Given the description of an element on the screen output the (x, y) to click on. 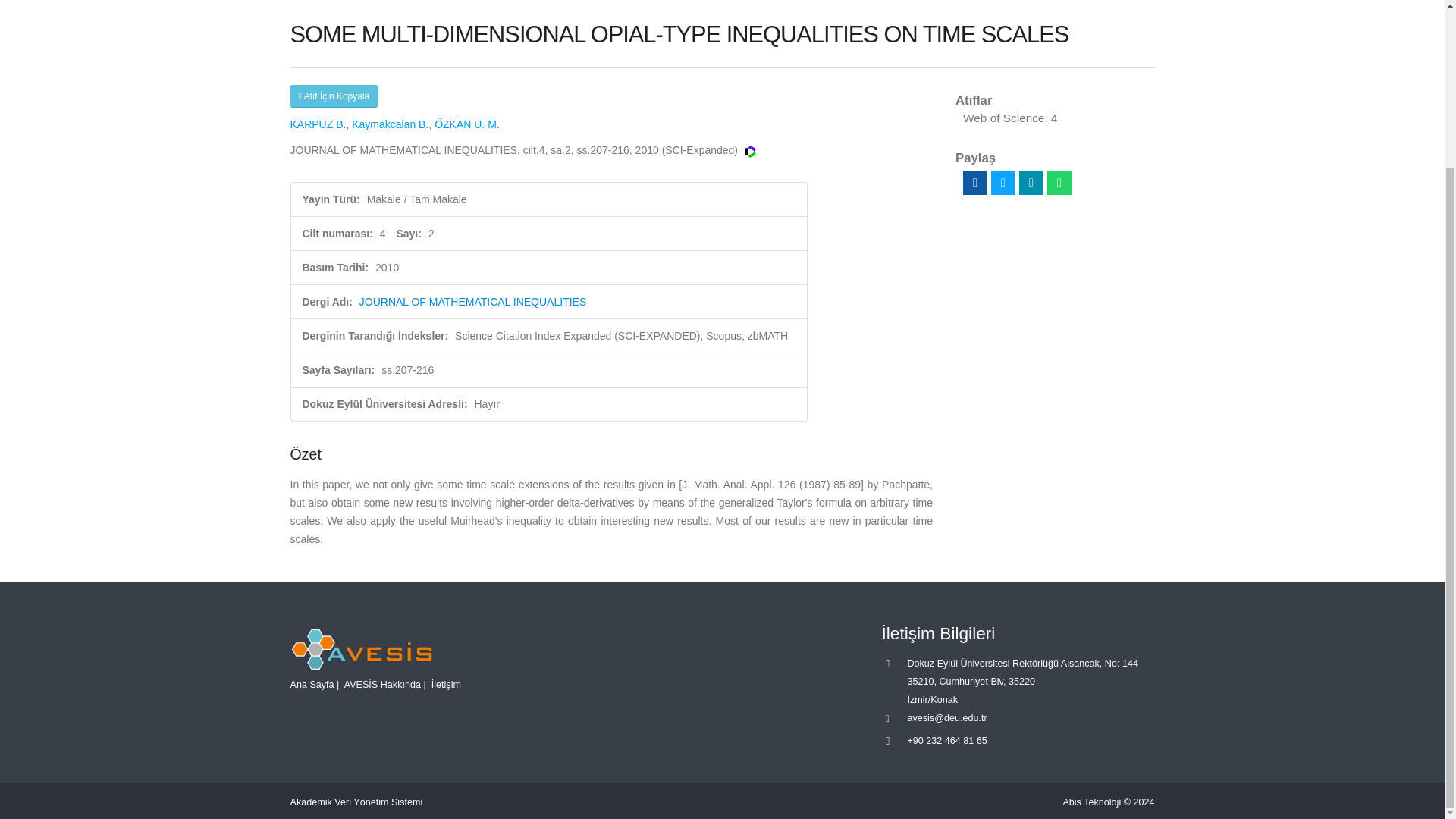
Kaymakcalan B. (390, 123)
Abis Teknoloji (1091, 801)
KARPUZ B. (317, 123)
Ana Sayfa (311, 684)
Billur Kaymakcalan (390, 123)
JOURNAL OF MATHEMATICAL INEQUALITIES (472, 301)
